Given the description of an element on the screen output the (x, y) to click on. 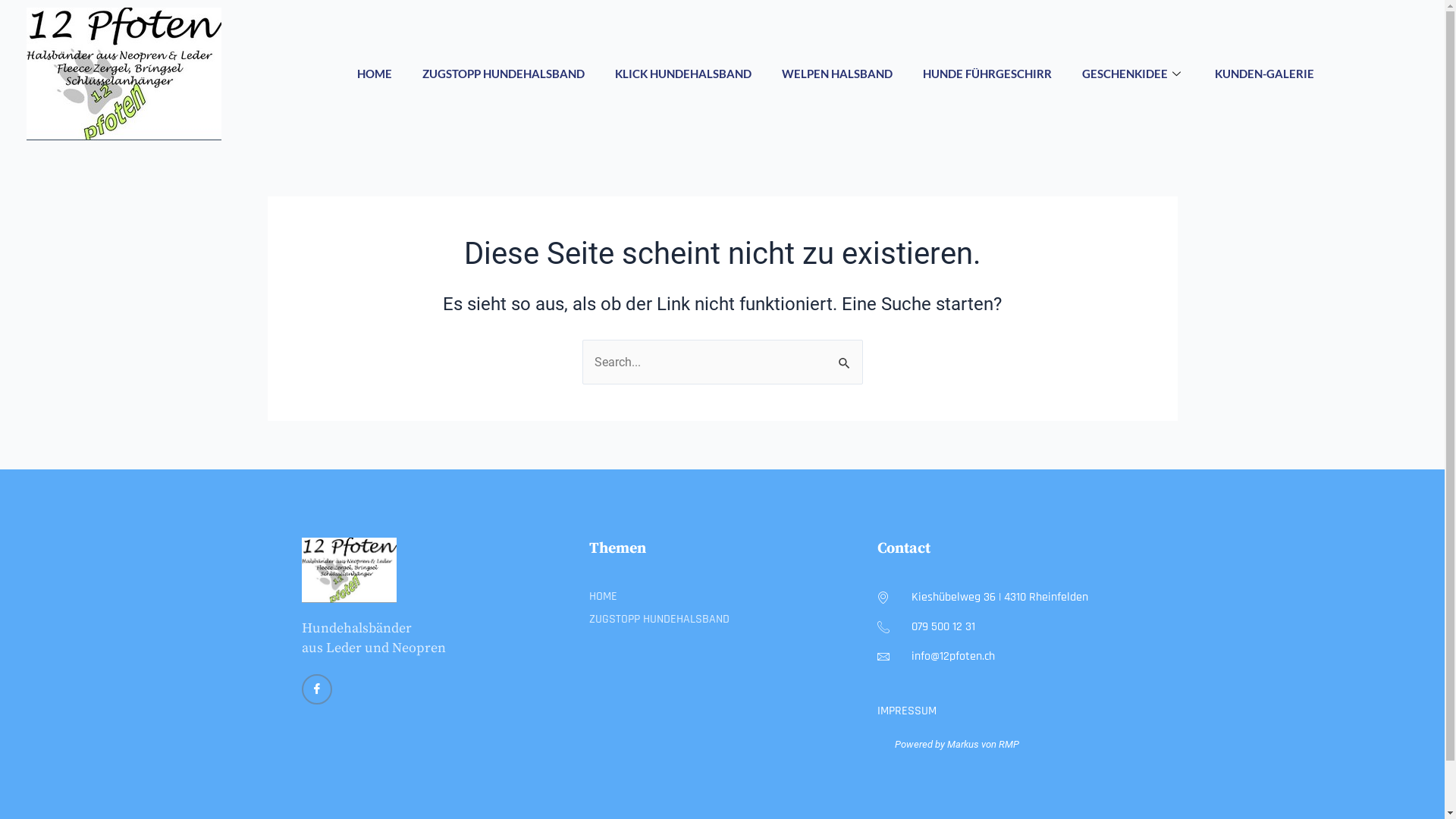
HOME Element type: text (721, 596)
ZUGSTOPP HUNDEHALSBAND Element type: text (503, 74)
KUNDEN-GALERIE Element type: text (1264, 74)
HOME Element type: text (374, 74)
GESCHENKIDEE Element type: text (1132, 74)
ZUGSTOPP HUNDEHALSBAND Element type: text (721, 619)
Markus von RMP Element type: text (983, 743)
info@12pfoten.ch Element type: text (989, 656)
KLICK HUNDEHALSBAND Element type: text (682, 74)
IMPRESSUM Element type: text (989, 710)
Suche Element type: text (845, 355)
079 500 12 31 Element type: text (989, 626)
WELPEN HALSBAND Element type: text (836, 74)
